Given the description of an element on the screen output the (x, y) to click on. 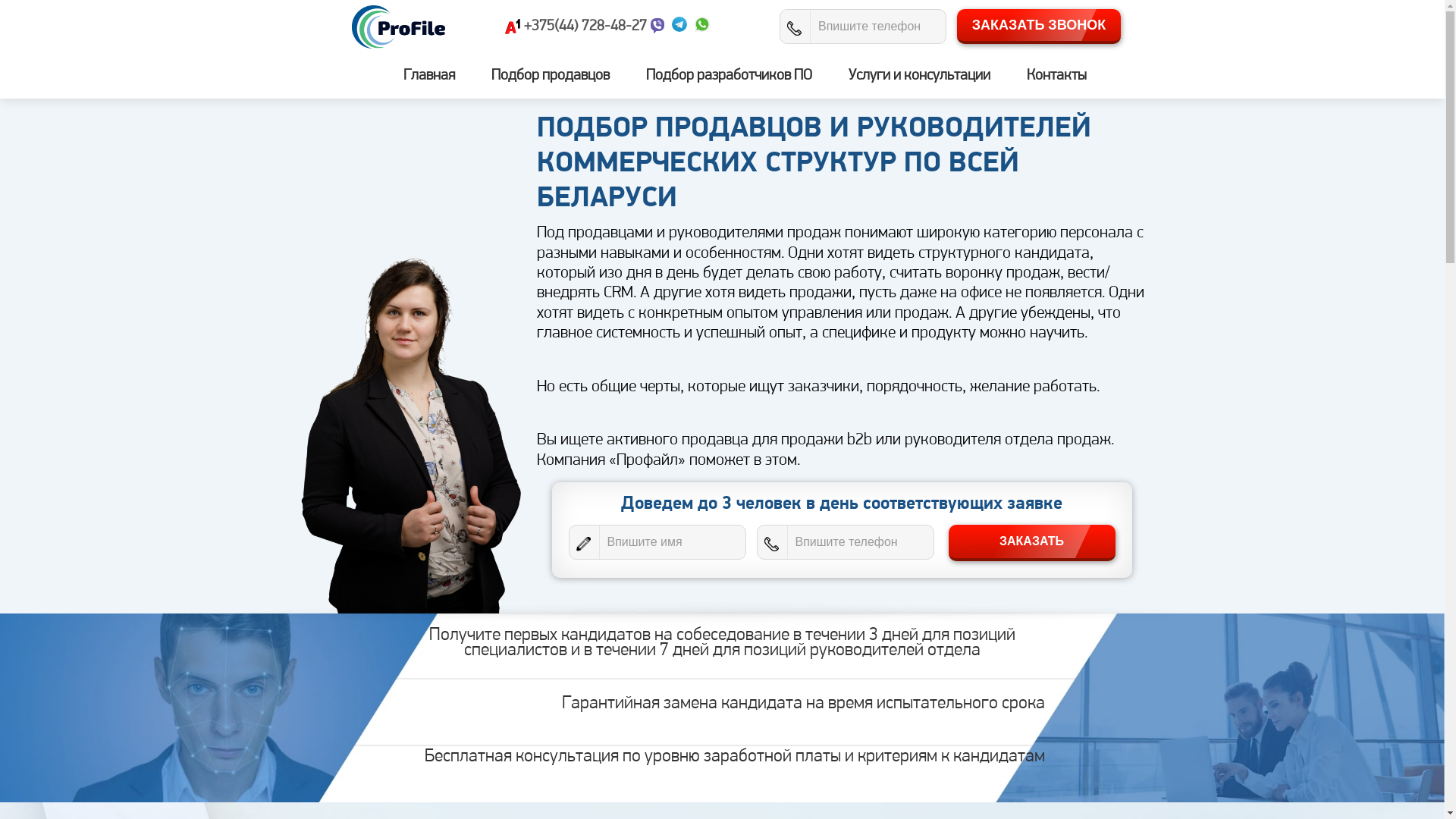
+375(44) 728-48-27 Element type: text (584, 26)
